Given the description of an element on the screen output the (x, y) to click on. 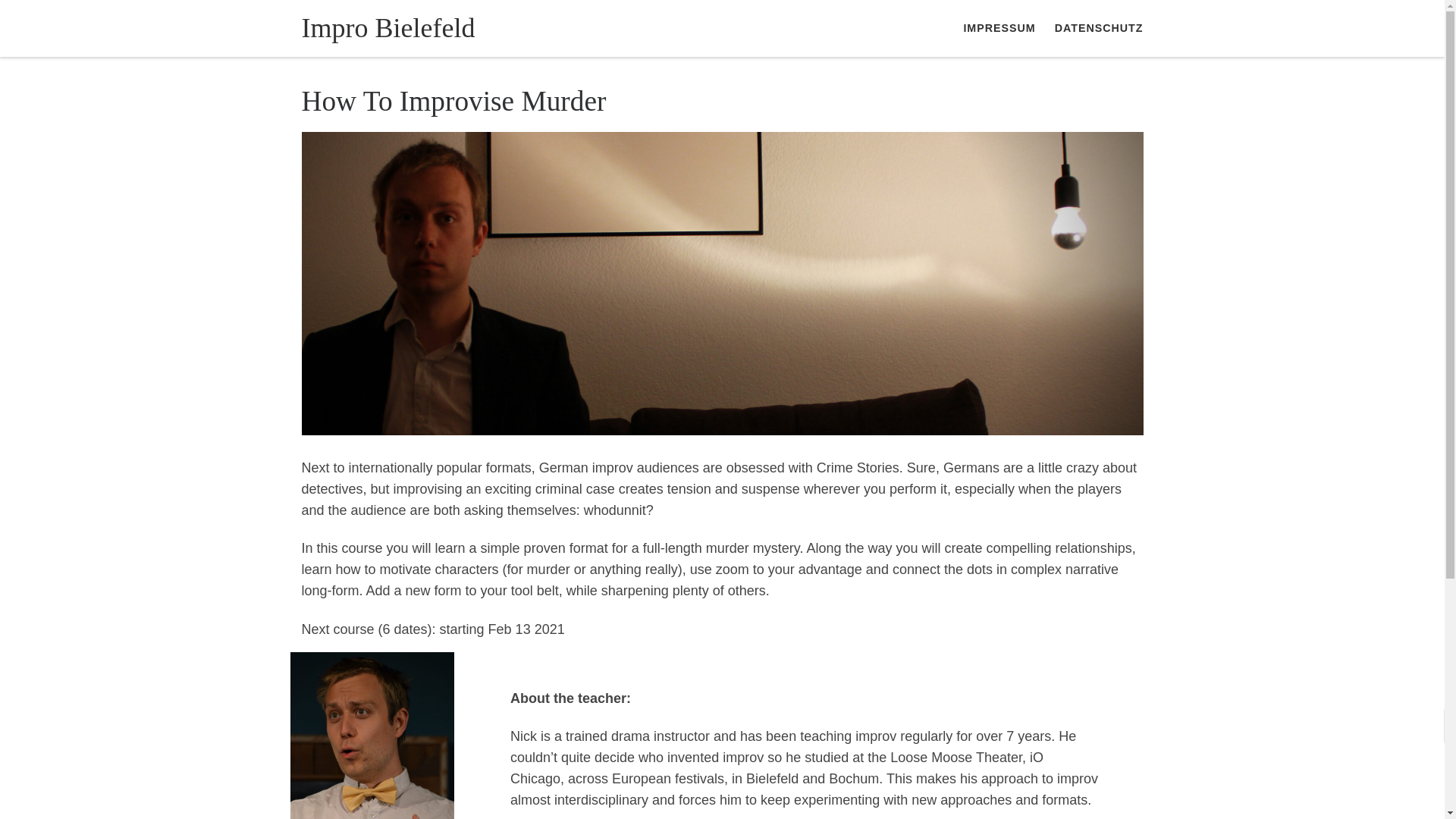
Zum Inhalt springen (74, 20)
Impro Bielefeld (388, 27)
IMPRESSUM (999, 28)
DATENSCHUTZ (1098, 28)
